Given the description of an element on the screen output the (x, y) to click on. 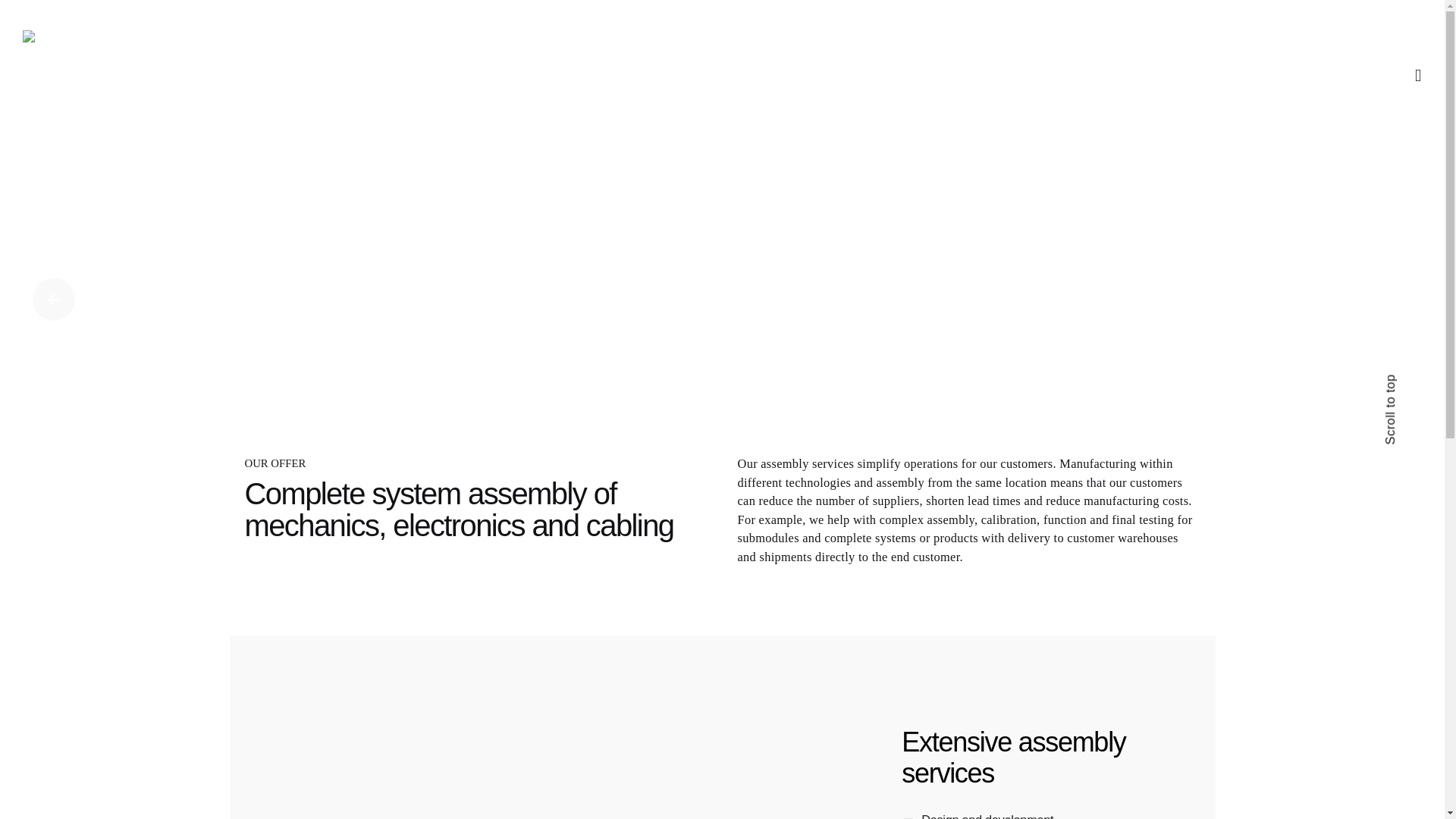
Career (1310, 15)
Manufacturing clusters (882, 47)
Media (1143, 15)
Services (769, 47)
Sustainability (1226, 15)
